Given the description of an element on the screen output the (x, y) to click on. 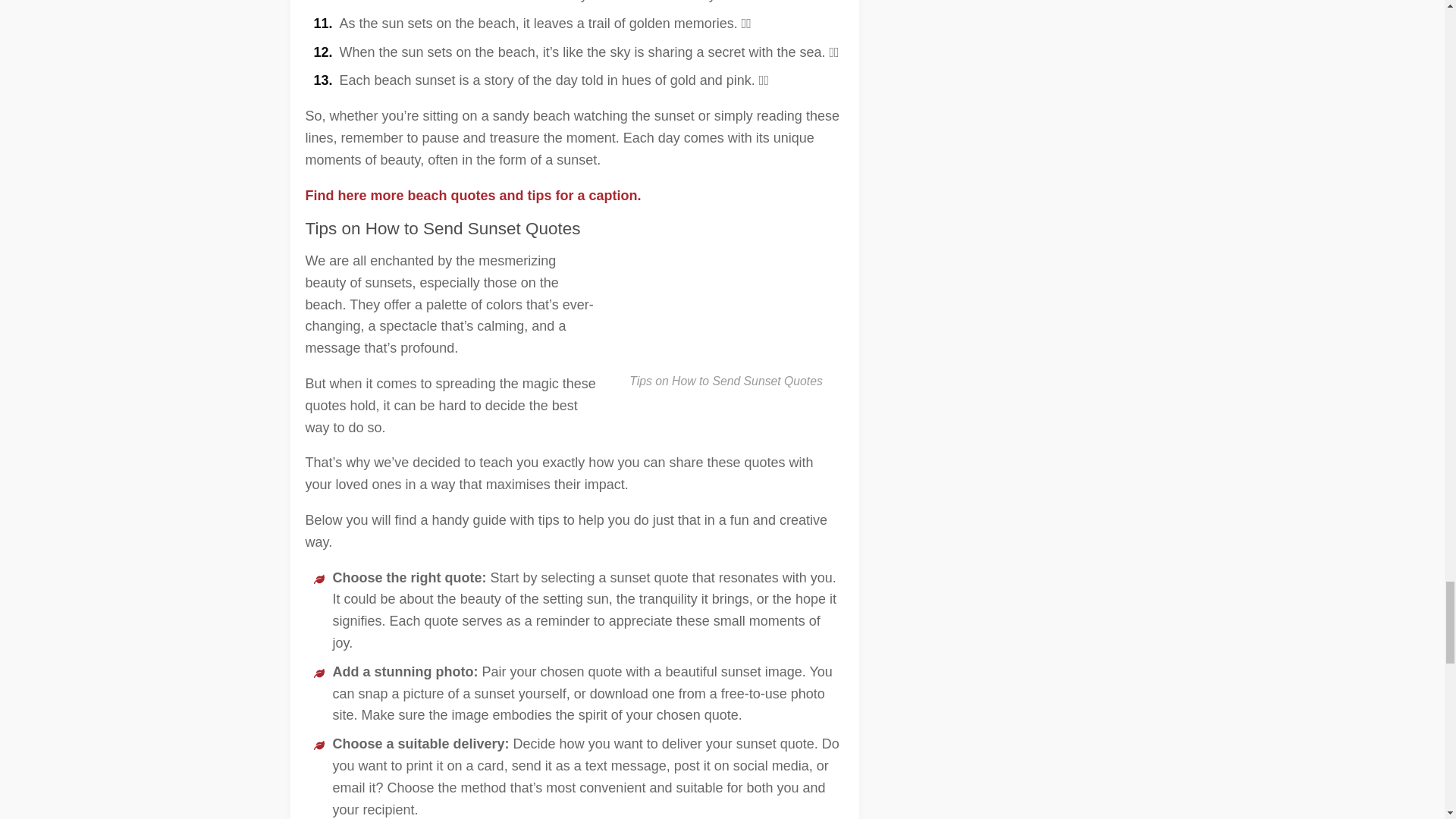
Find here more beach quotes and tips for a caption. (472, 195)
